Given the description of an element on the screen output the (x, y) to click on. 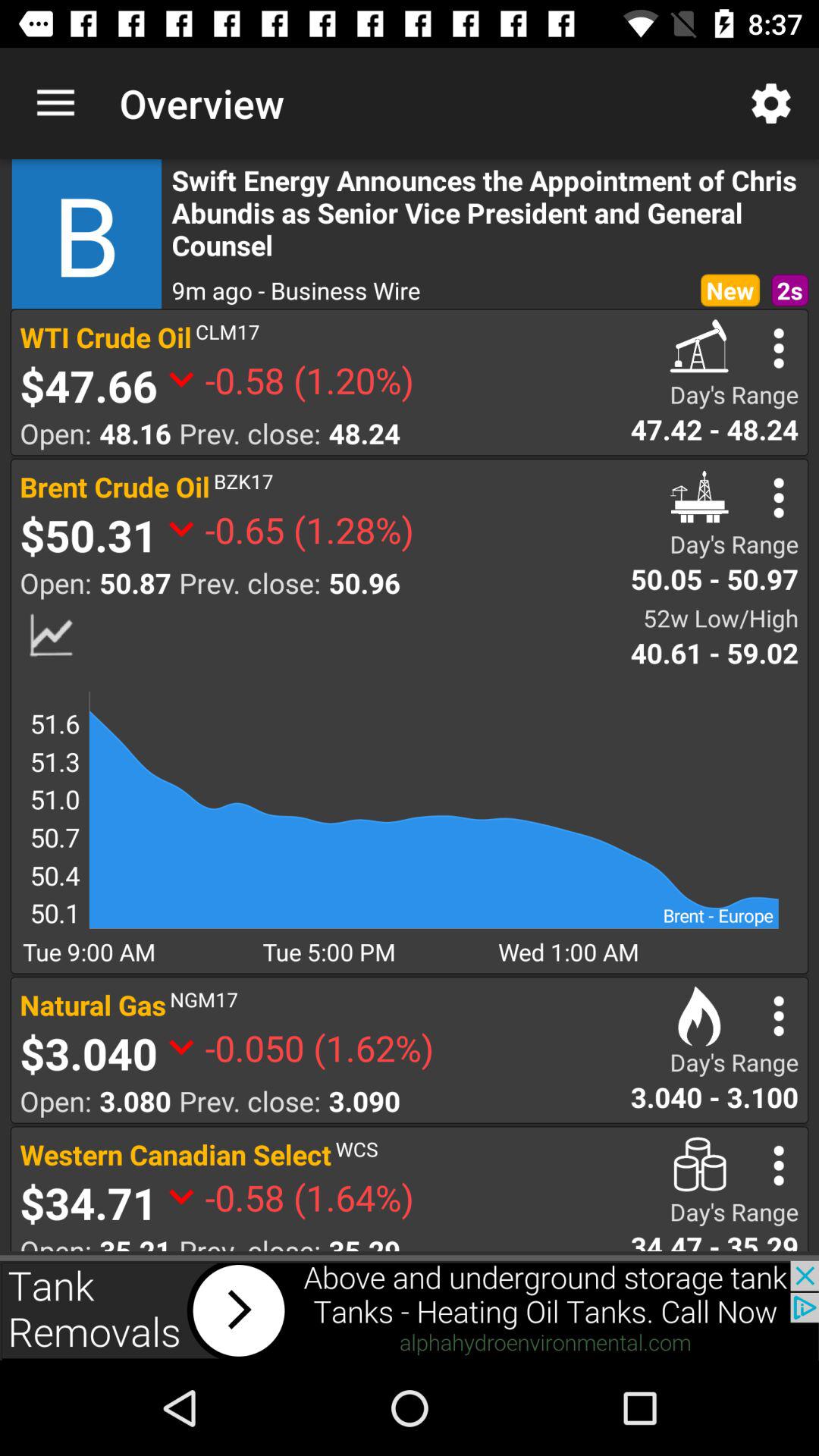
option (778, 1015)
